Given the description of an element on the screen output the (x, y) to click on. 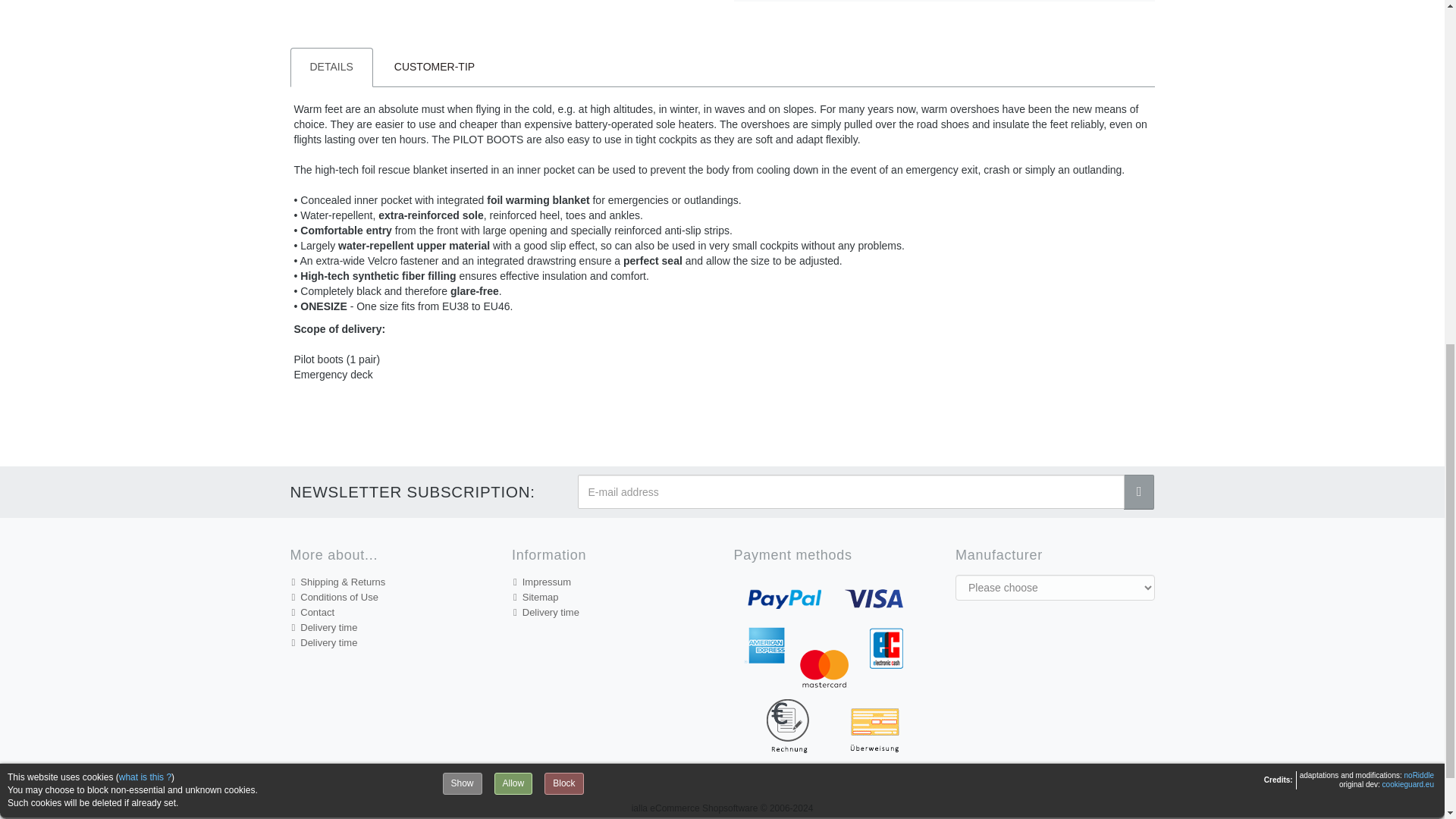
cookieguard.eu (1407, 155)
Block (563, 155)
Allow (513, 155)
what is this ? (145, 148)
noRiddle (1419, 146)
Show (461, 155)
